Given the description of an element on the screen output the (x, y) to click on. 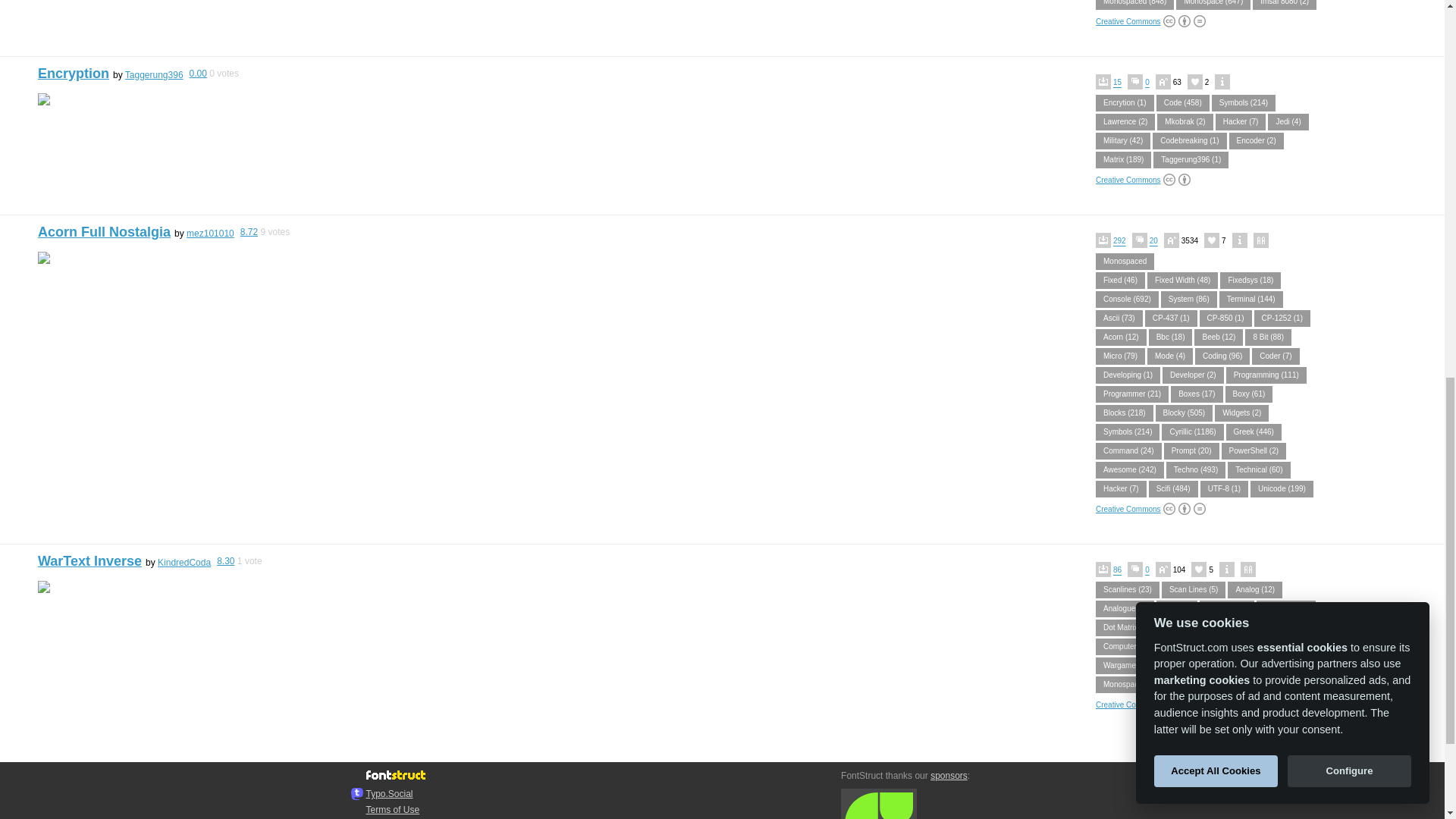
Glyphs (879, 803)
